Given the description of an element on the screen output the (x, y) to click on. 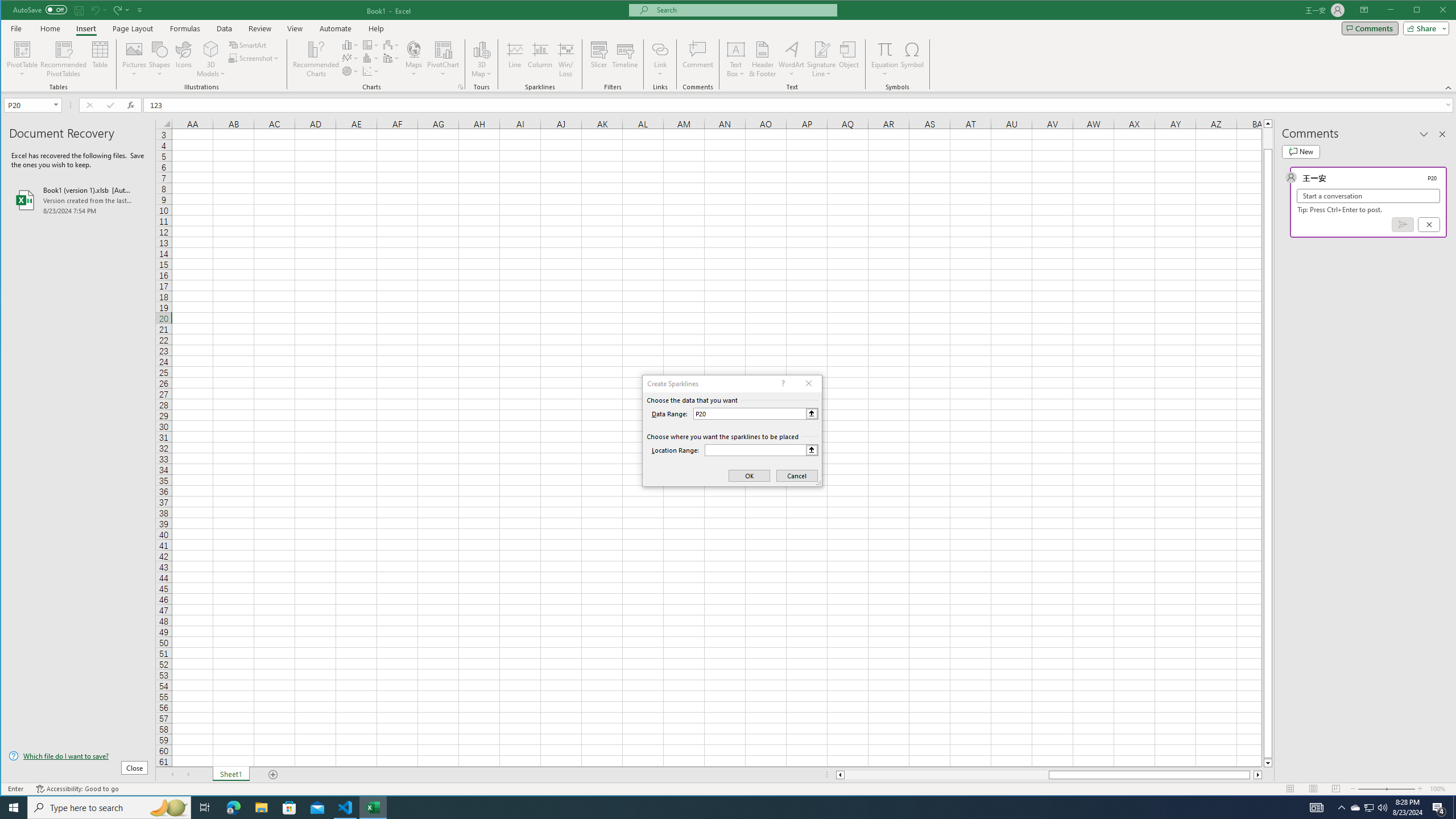
Column (540, 59)
Start a conversation (1368, 195)
Insert Statistic Chart (371, 57)
Signature Line (821, 59)
Link (659, 48)
Shapes (159, 59)
Line (514, 59)
